Given the description of an element on the screen output the (x, y) to click on. 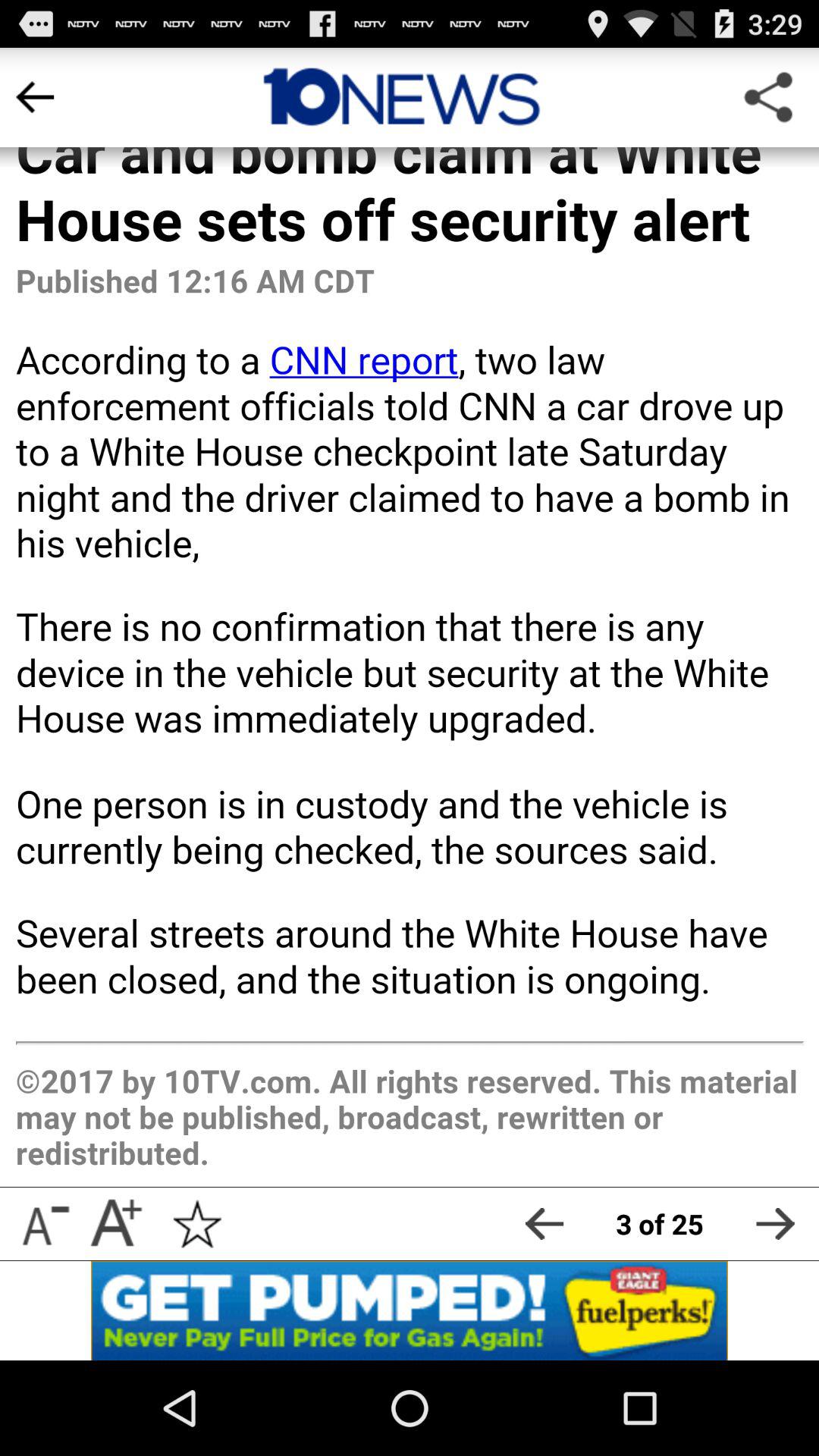
share the article (775, 1223)
